Given the description of an element on the screen output the (x, y) to click on. 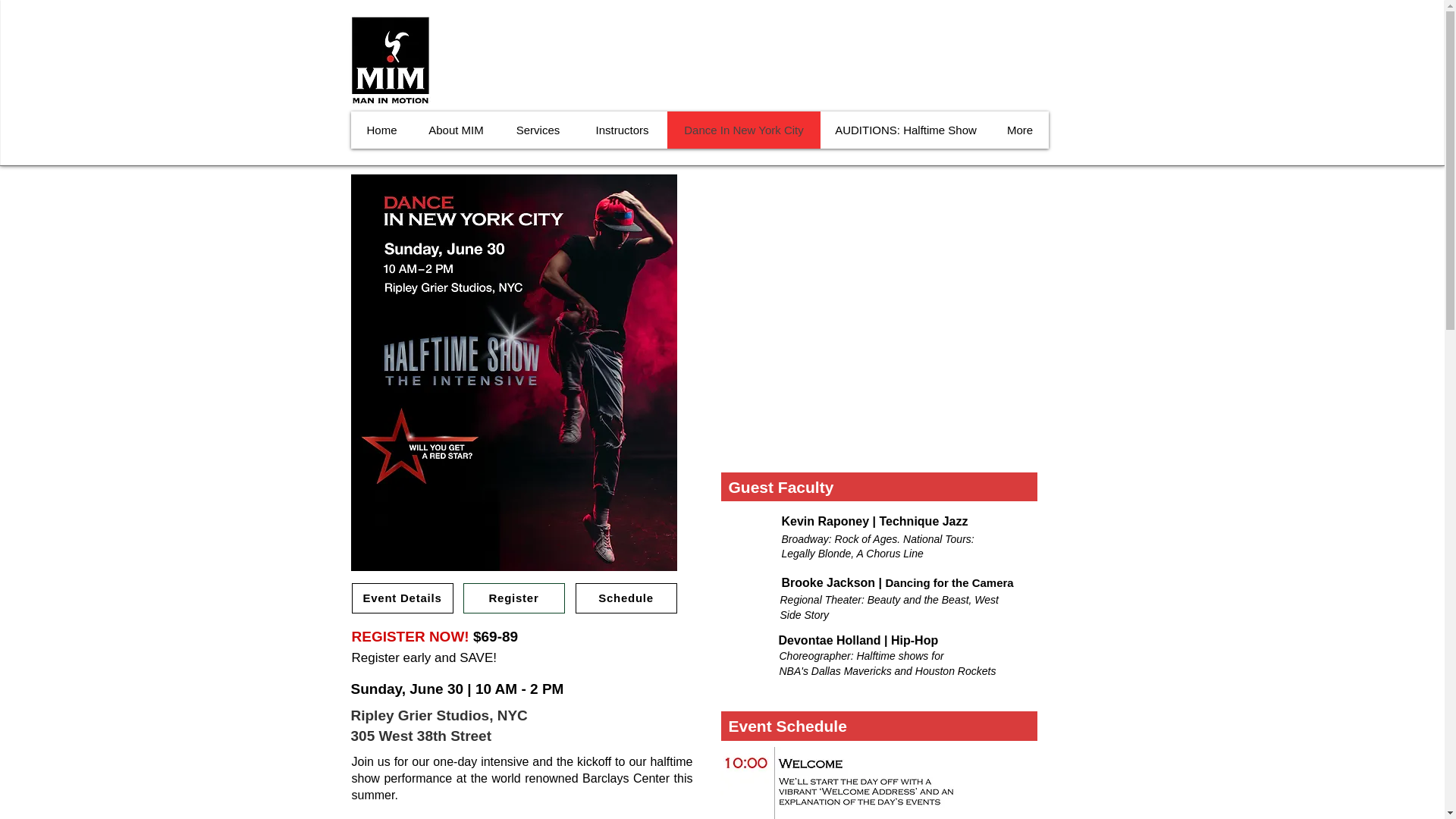
AUDITIONS: Halftime Show (906, 129)
Register (513, 598)
Schedule (626, 598)
Instructors (621, 129)
About MIM (454, 129)
Dance In New York City (743, 129)
Home (381, 129)
Event Details (402, 598)
Services (537, 129)
